Given the description of an element on the screen output the (x, y) to click on. 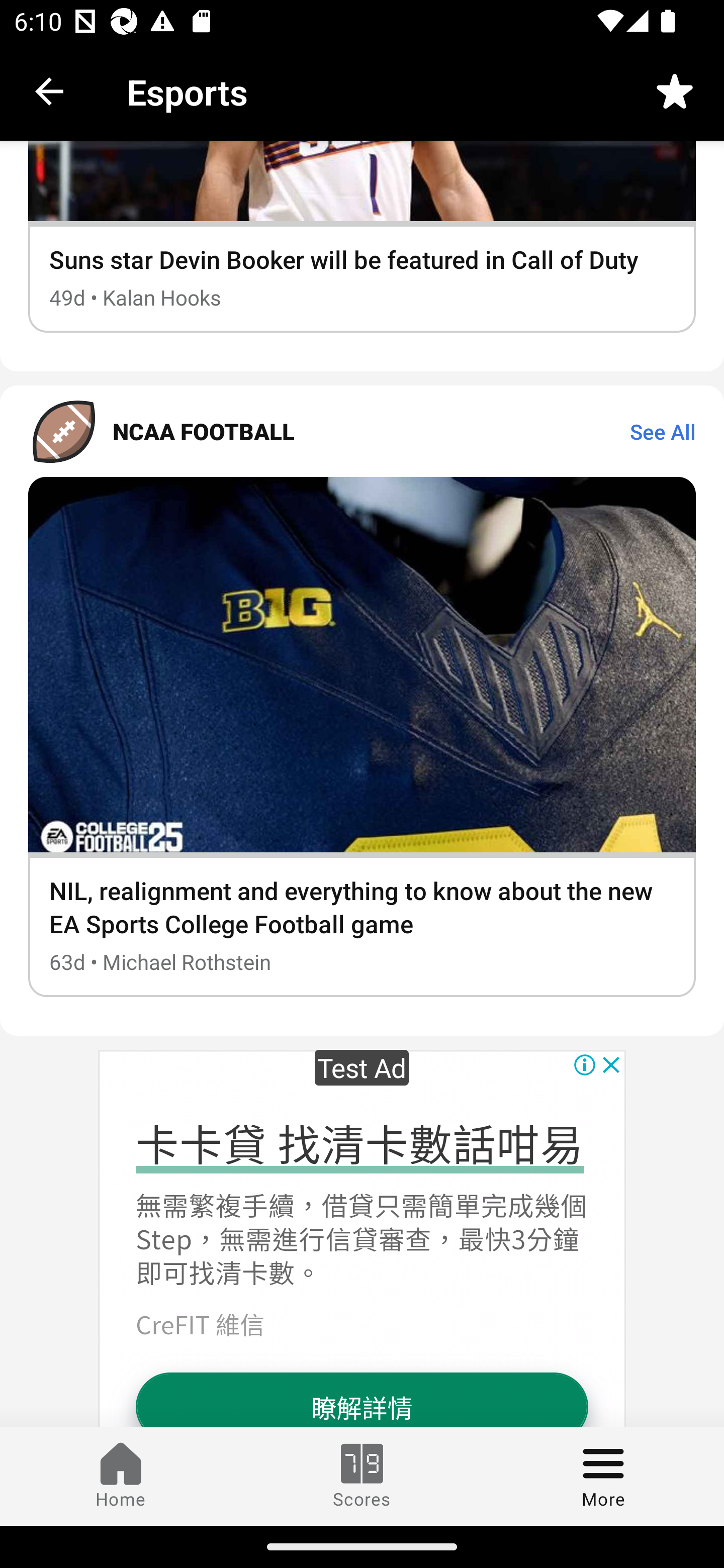
back.button (49, 90)
Favorite toggle (674, 90)
NCAA FOOTBALL See All (362, 430)
卡卡貸 找清卡數話咁易 (359, 1142)
CreFIT 維信 (199, 1323)
瞭解詳情 (361, 1399)
Home (120, 1475)
Scores (361, 1475)
